Given the description of an element on the screen output the (x, y) to click on. 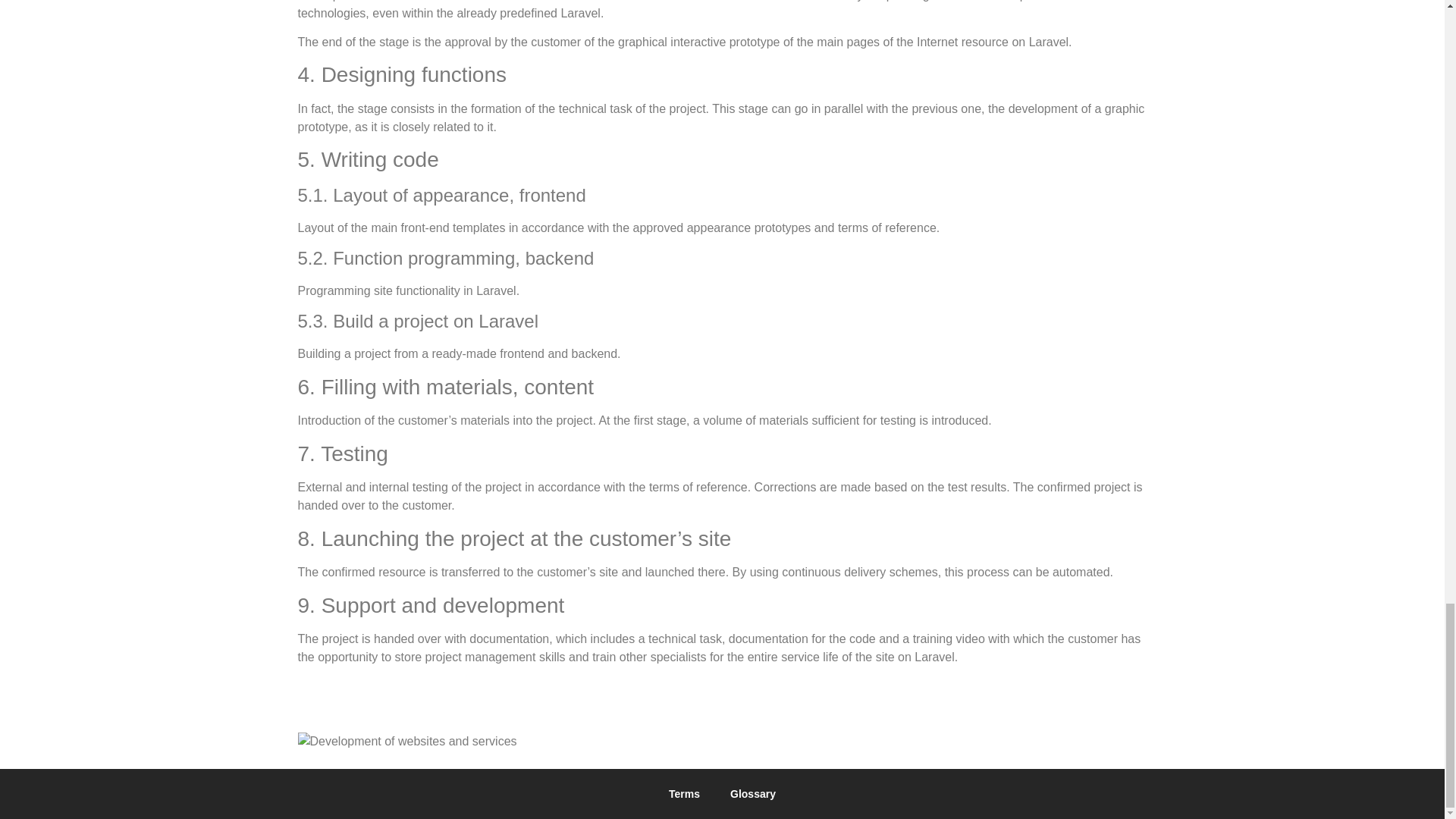
Glossary (752, 793)
Development of websites and services (406, 741)
Terms (683, 793)
